Given the description of an element on the screen output the (x, y) to click on. 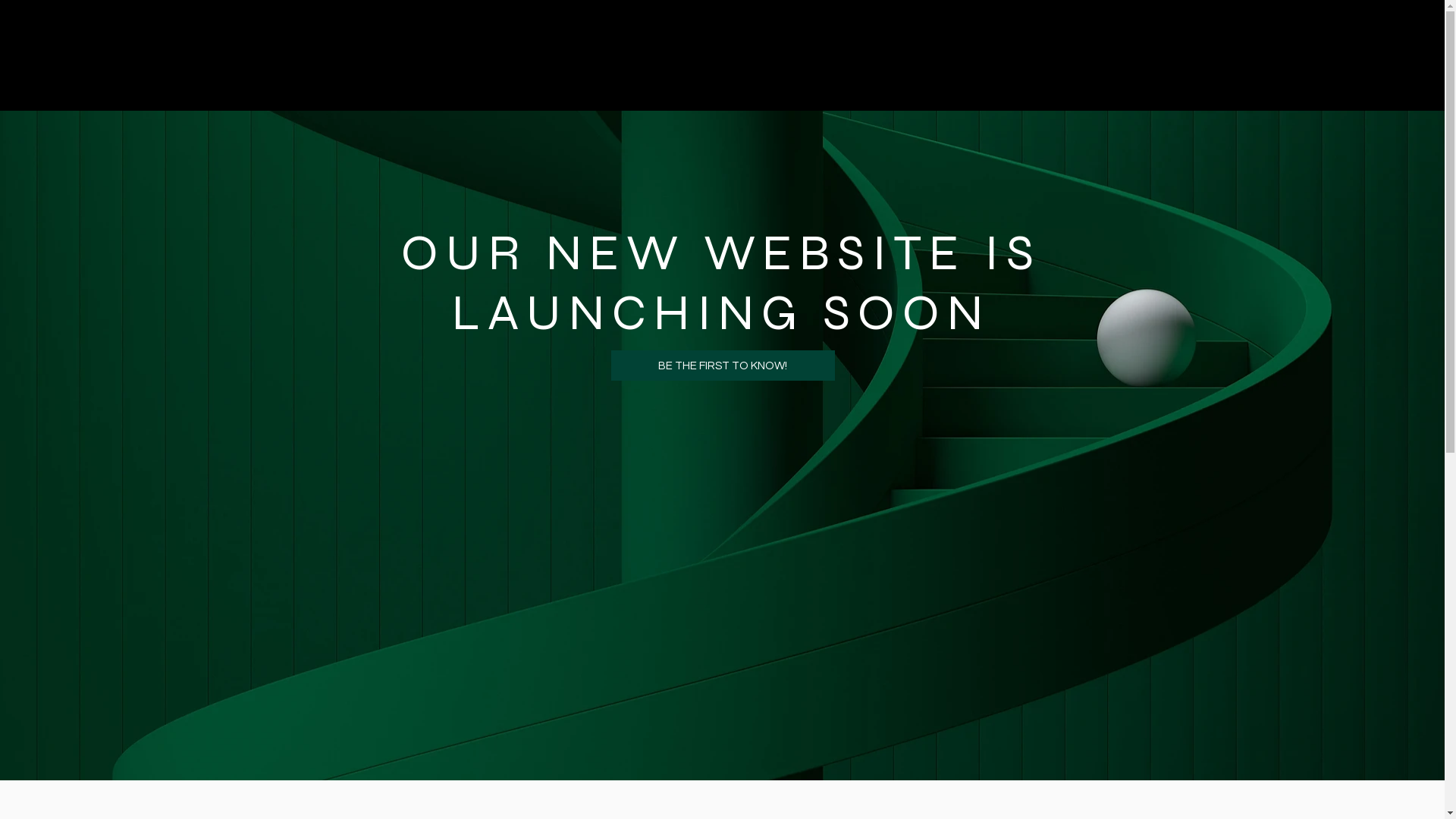
BE THE FIRST TO KNOW! Element type: text (722, 365)
